Given the description of an element on the screen output the (x, y) to click on. 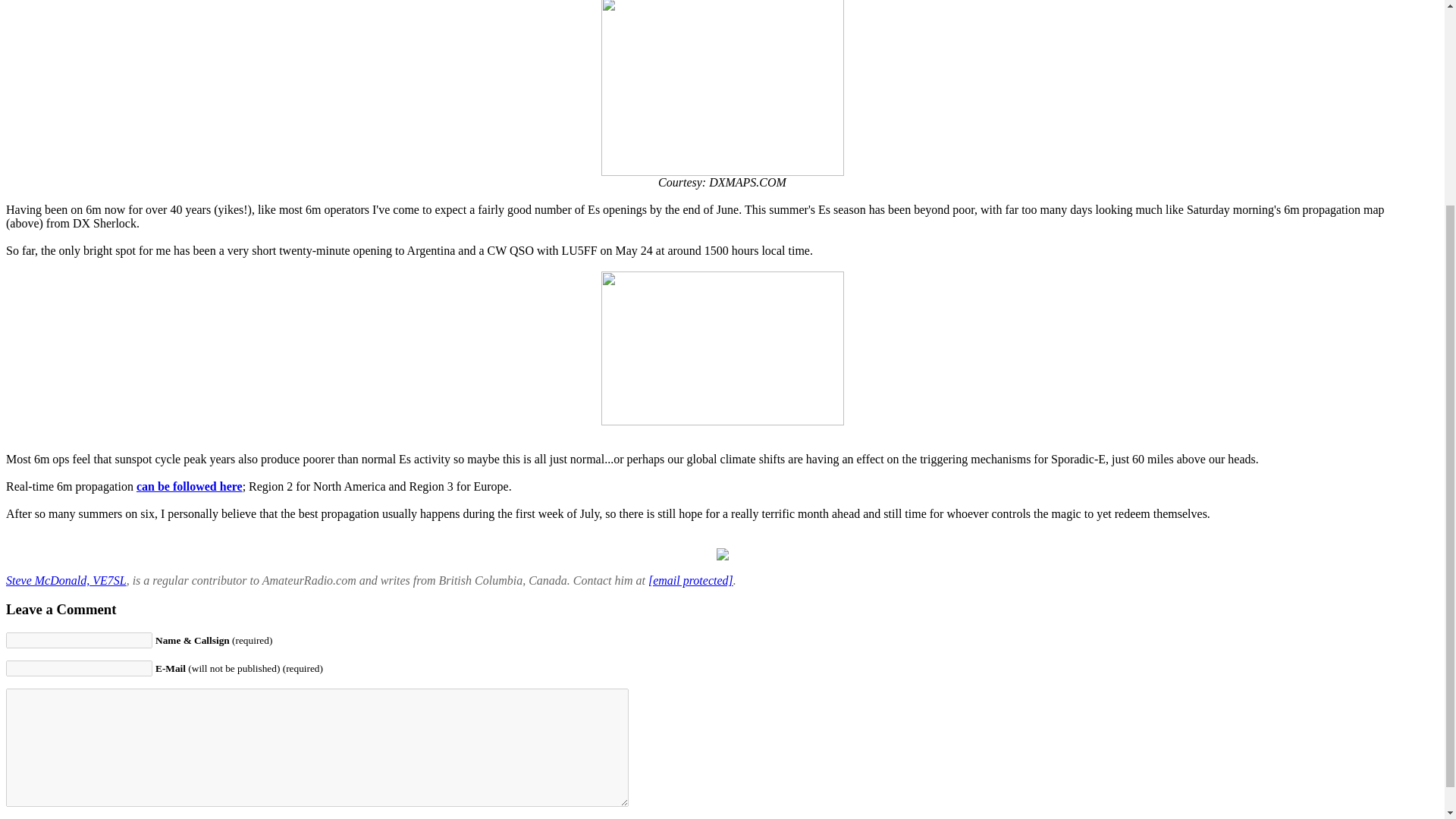
Steve McDonald, VE7SL (65, 580)
can be followed here (189, 486)
